Given the description of an element on the screen output the (x, y) to click on. 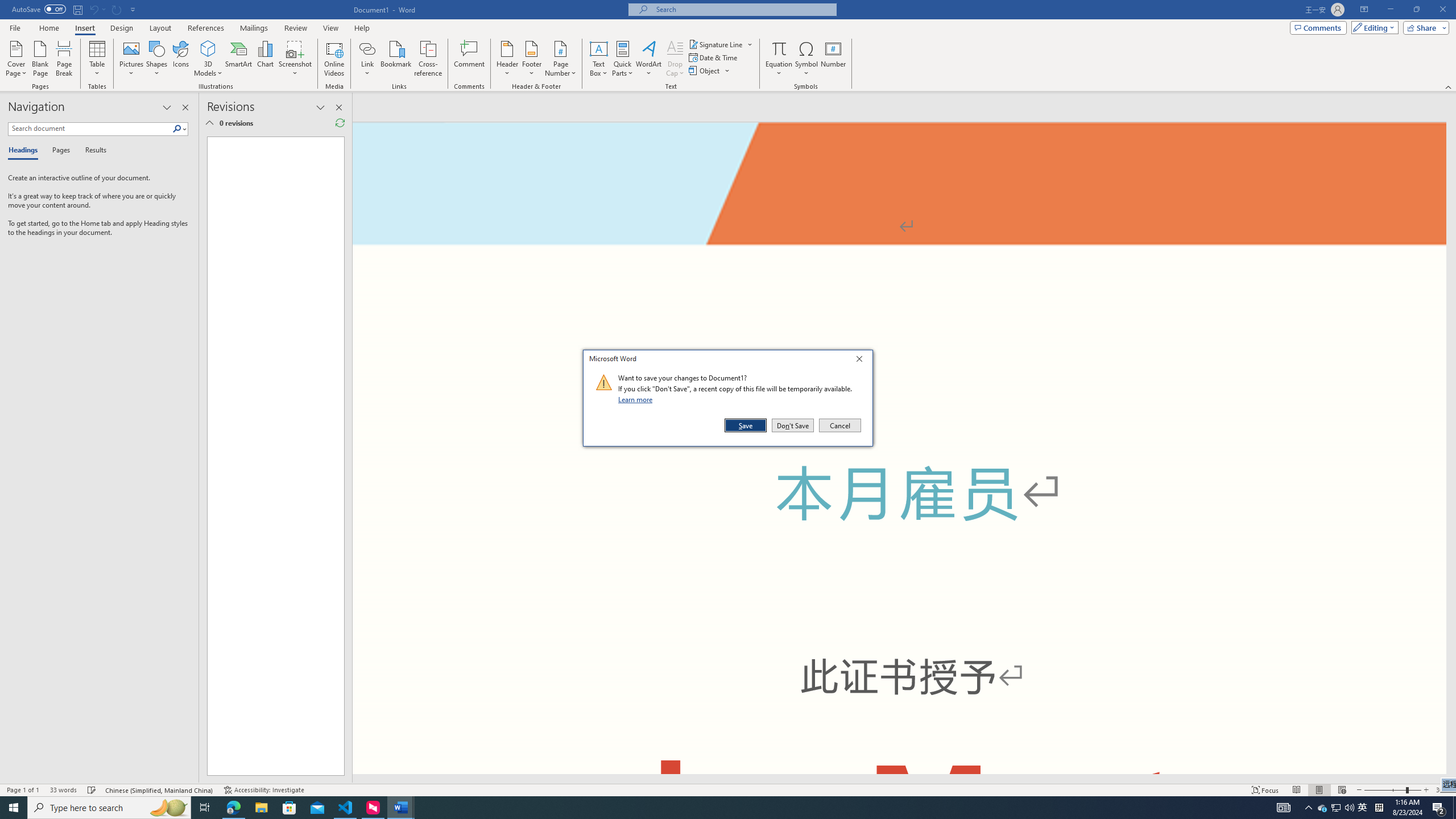
Tray Input Indicator - Chinese (Simplified, China) (1378, 807)
Page Break (63, 58)
Cover Page (16, 58)
Cancel (839, 425)
Learn more (636, 399)
Icons (180, 58)
Screenshot (295, 58)
Show Detailed Summary (209, 122)
